Given the description of an element on the screen output the (x, y) to click on. 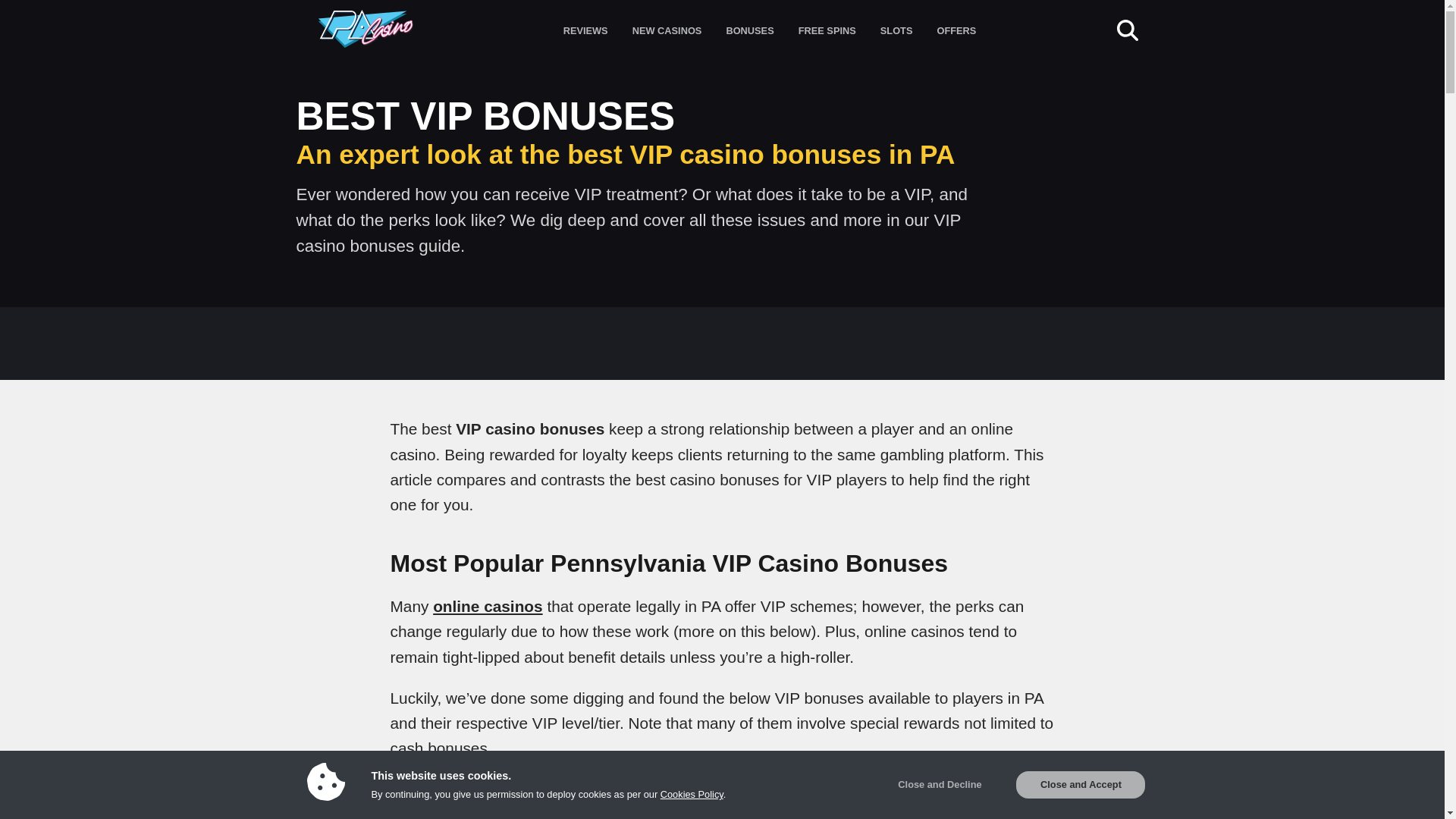
FREE SPINS (826, 29)
BONUSES (749, 29)
SLOTS (895, 29)
online casinos (486, 606)
OFFERS (956, 29)
NEW CASINOS (667, 29)
REVIEWS (585, 29)
